Given the description of an element on the screen output the (x, y) to click on. 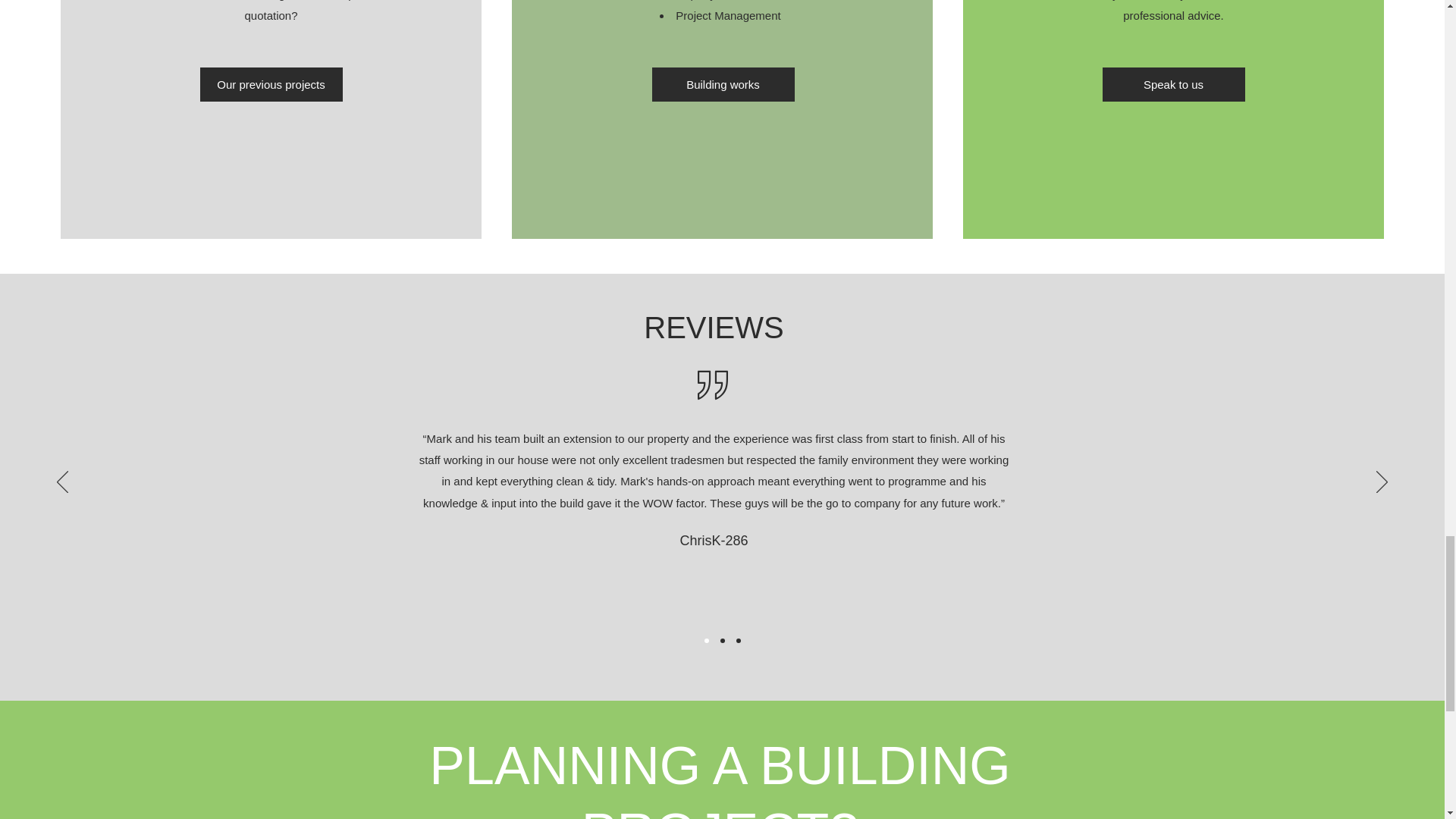
Our previous projects (271, 84)
Building works (723, 84)
Speak to us (1173, 84)
